Given the description of an element on the screen output the (x, y) to click on. 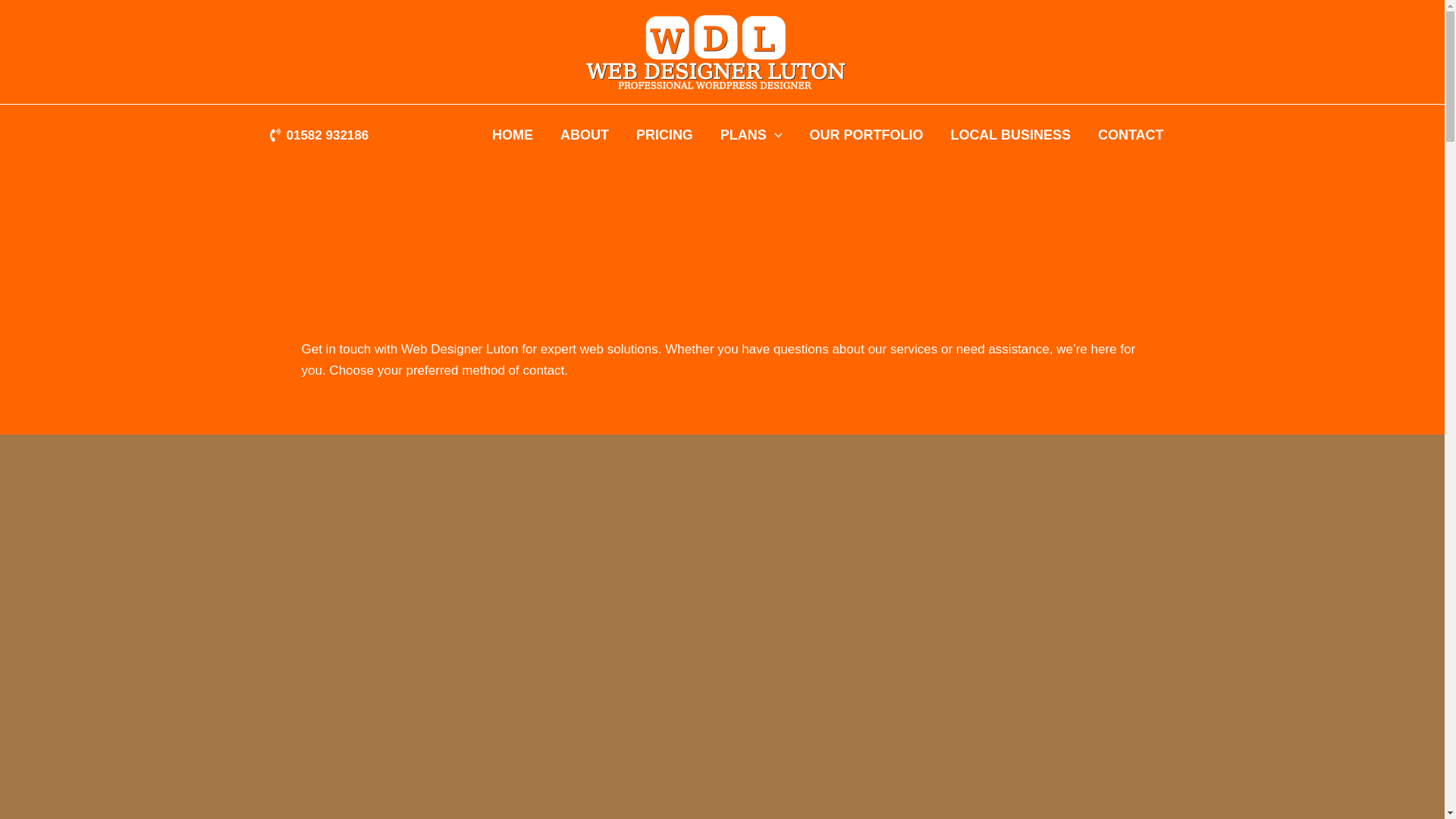
CONTACT (1130, 134)
ABOUT (585, 134)
OUR PORTFOLIO (866, 134)
PRICING (664, 134)
PLANS (751, 134)
HOME (513, 134)
LOCAL BUSINESS (1010, 134)
01582 932186 (317, 134)
